Given the description of an element on the screen output the (x, y) to click on. 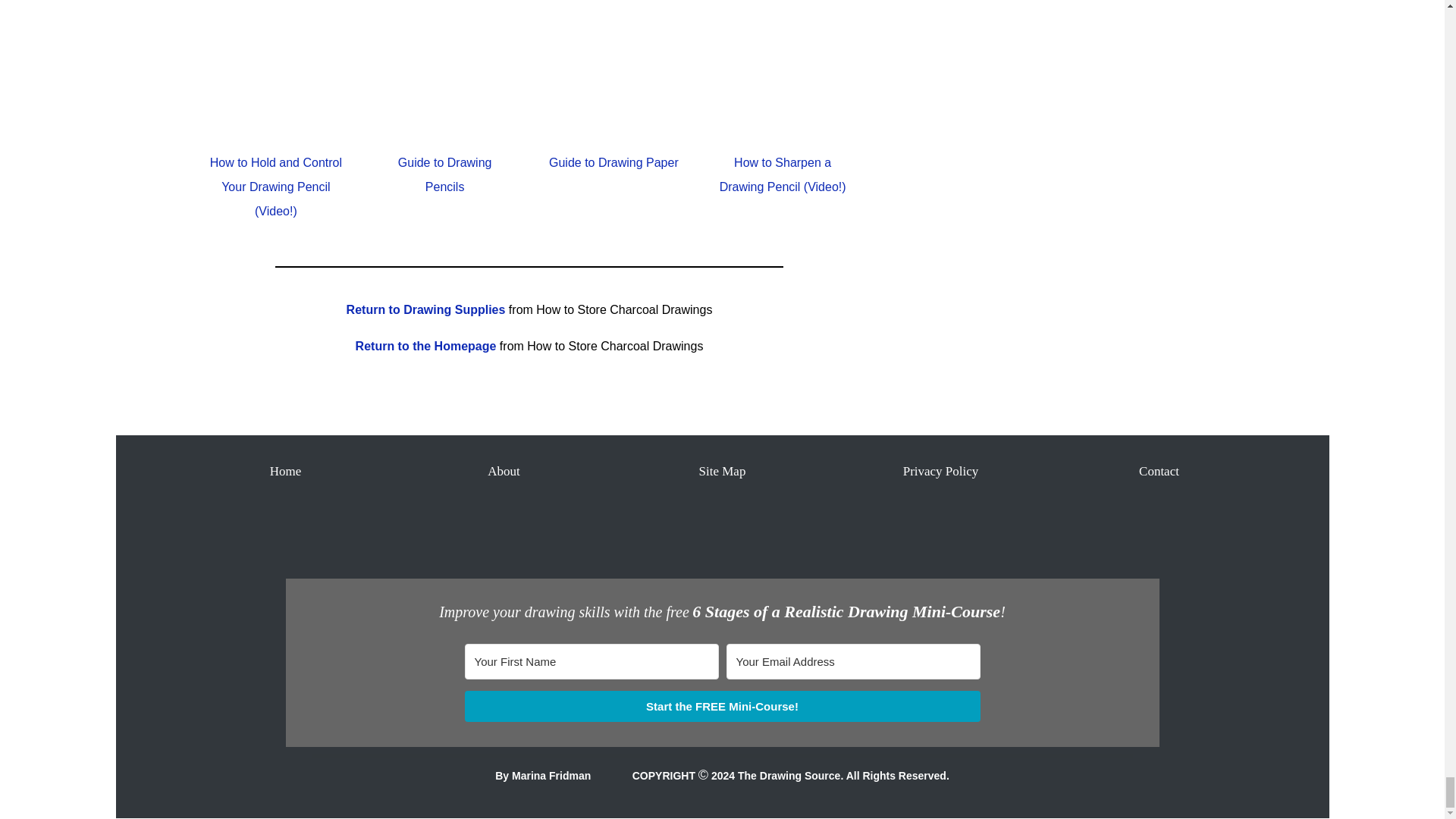
Go to The Best Drawing Paper for Realistic Drawing (613, 126)
Go to How to Sharpen a Drawing Pencil (782, 126)
Home (285, 471)
About (503, 471)
Contact (1158, 471)
Go to Drawing Pencils to Use for Realistic Drawing (444, 126)
Guide to Drawing Pencils (444, 174)
Return to the Homepage (425, 345)
Privacy Policy (940, 471)
